Given the description of an element on the screen output the (x, y) to click on. 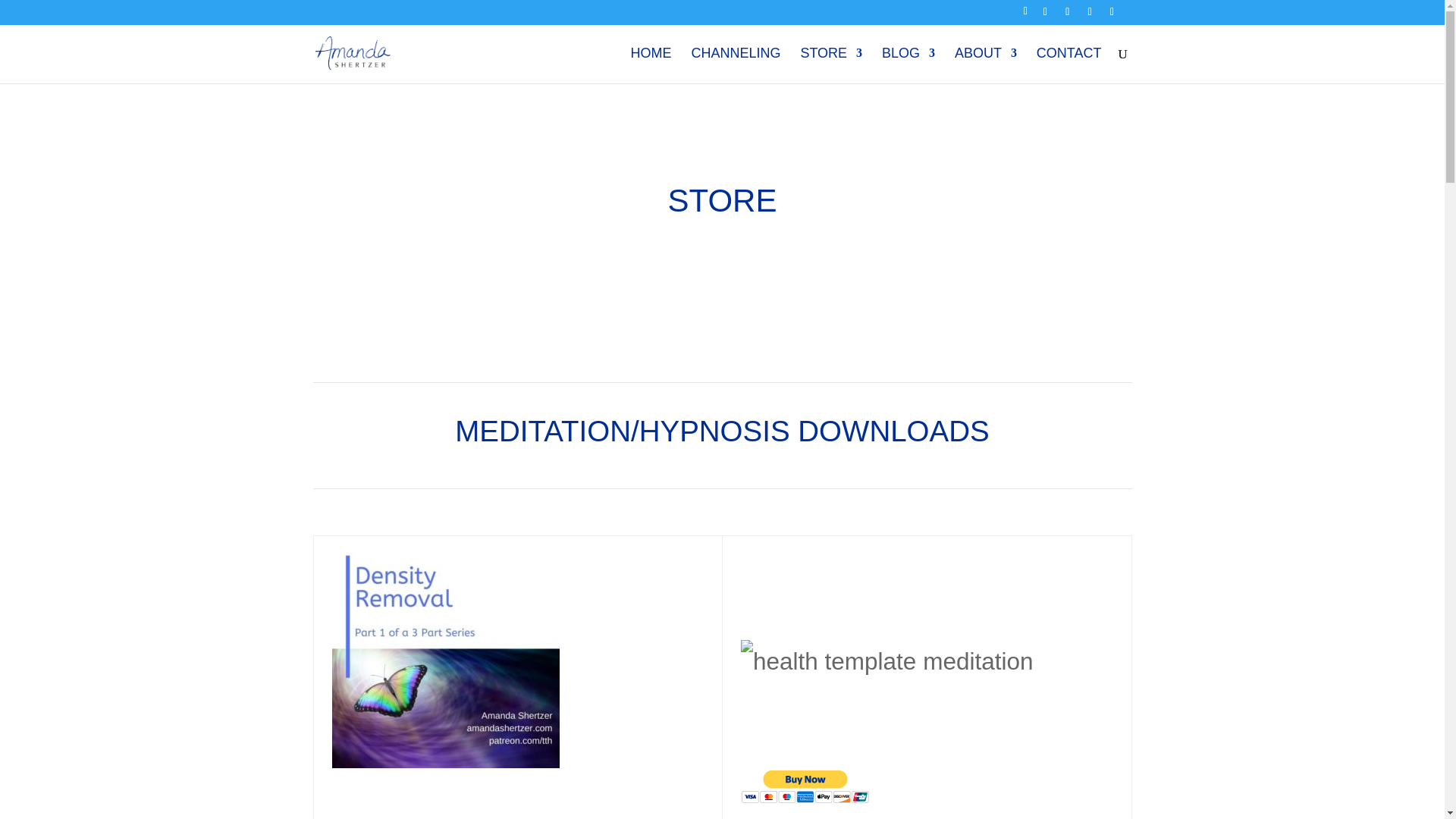
CONTACT (1069, 65)
ABOUT (985, 65)
HOME (650, 65)
PayPal - The safer, easier way to pay online! (805, 786)
BLOG (908, 65)
STORE (830, 65)
CHANNELING (735, 65)
